Given the description of an element on the screen output the (x, y) to click on. 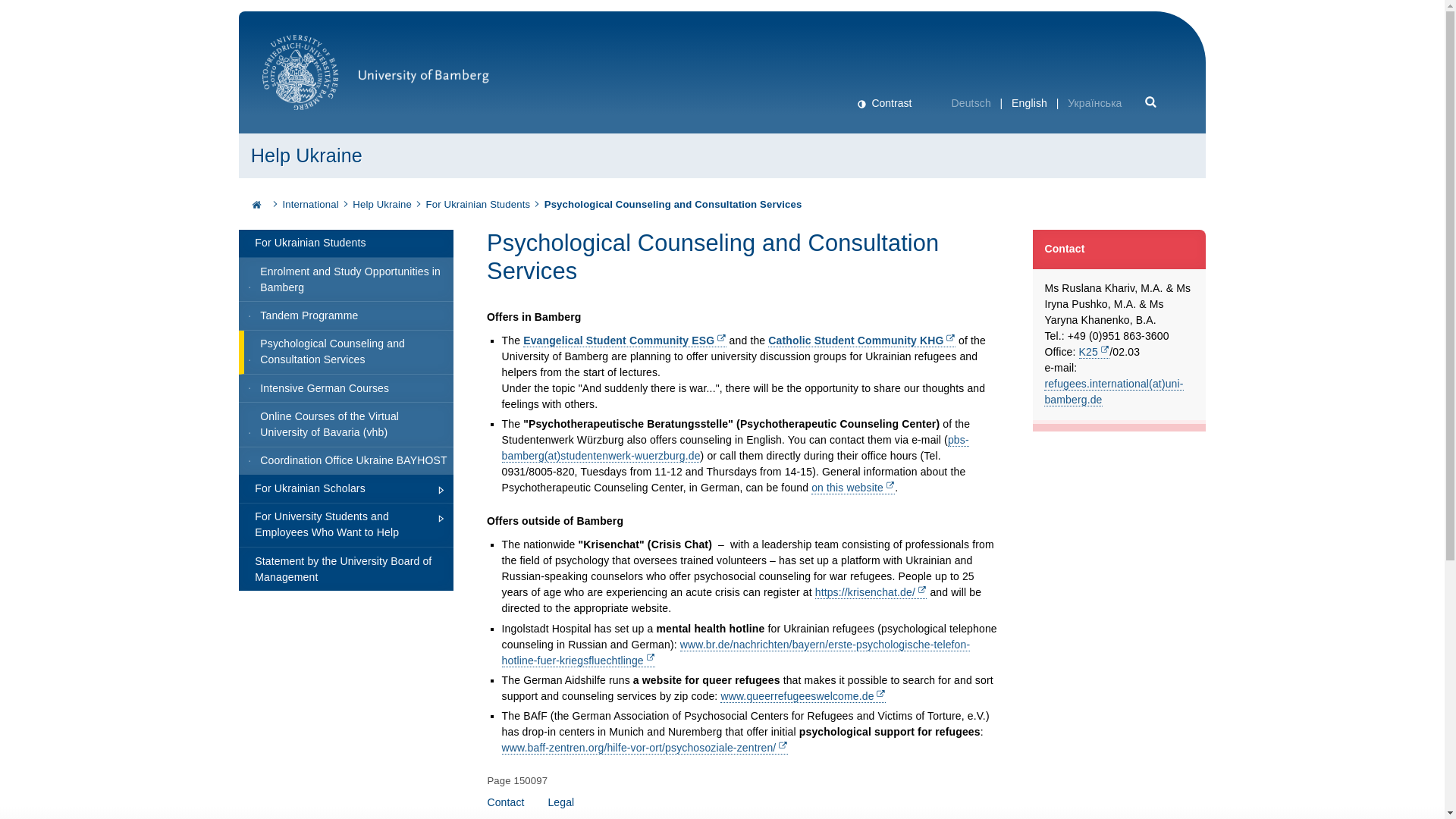
Enrolment and Study Opportunities in Bamberg (345, 279)
Contrast (883, 103)
Intensive German Courses (345, 388)
University of Bamberg (375, 79)
Uni Bamberg International (310, 204)
Deutsch (971, 103)
Coordination Office Ukraine BAYHOST (345, 461)
Tandem Programme (345, 316)
Help for Ukrainian Students (478, 204)
